Given the description of an element on the screen output the (x, y) to click on. 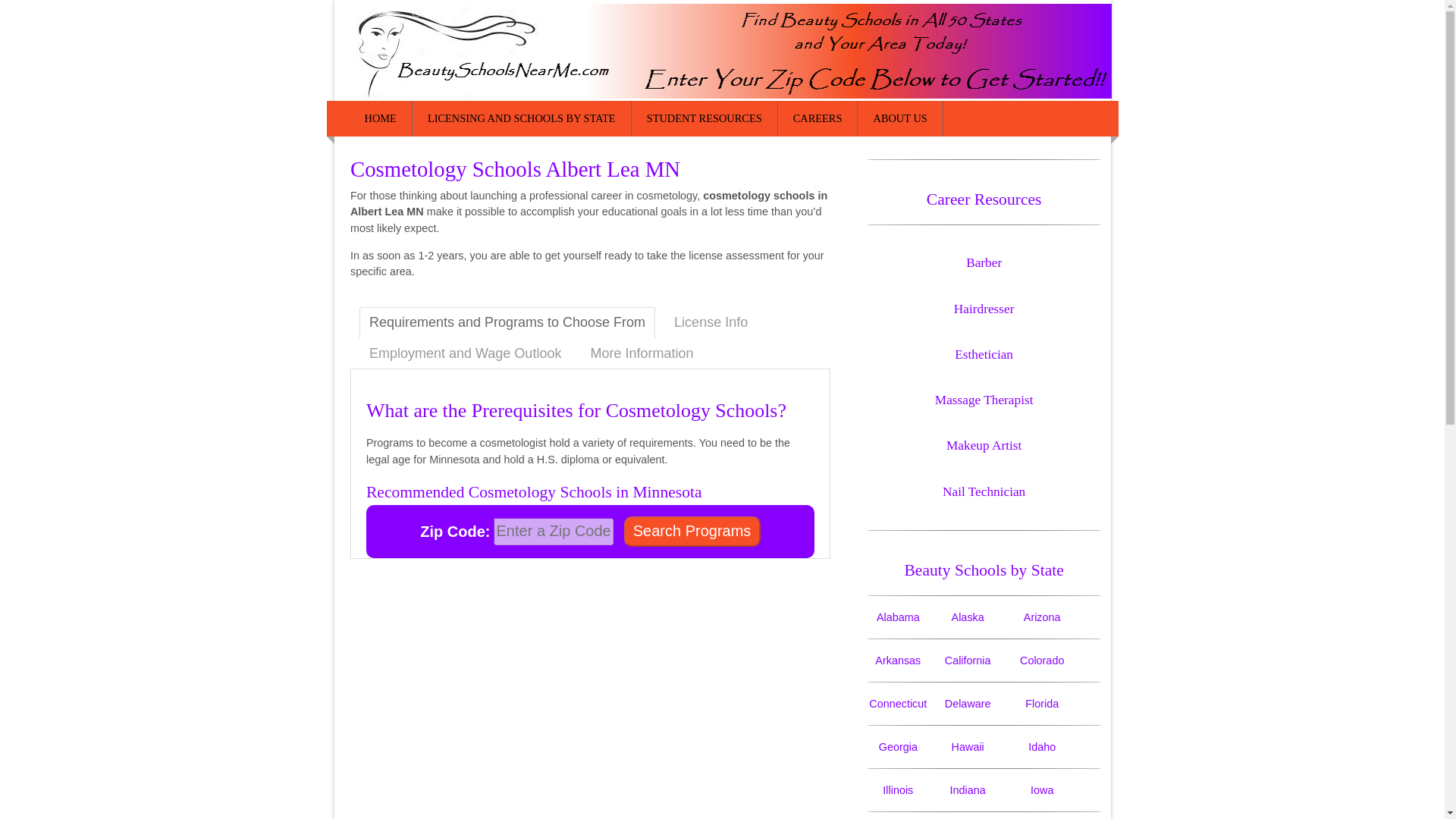
HOME (380, 118)
Search Programs (692, 531)
LICENSING AND SCHOOLS BY STATE (521, 118)
